Given the description of an element on the screen output the (x, y) to click on. 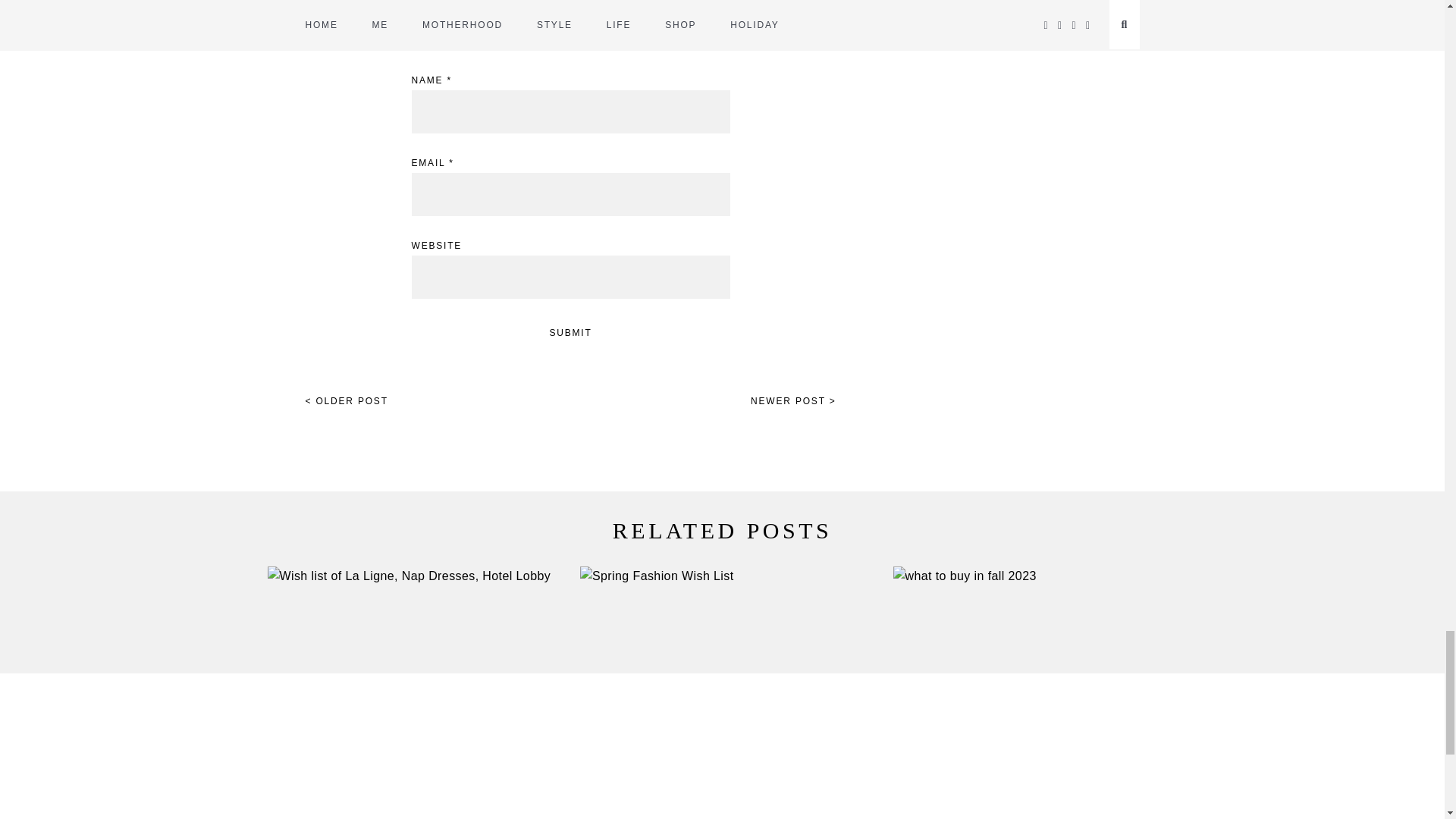
Submit (569, 332)
